Given the description of an element on the screen output the (x, y) to click on. 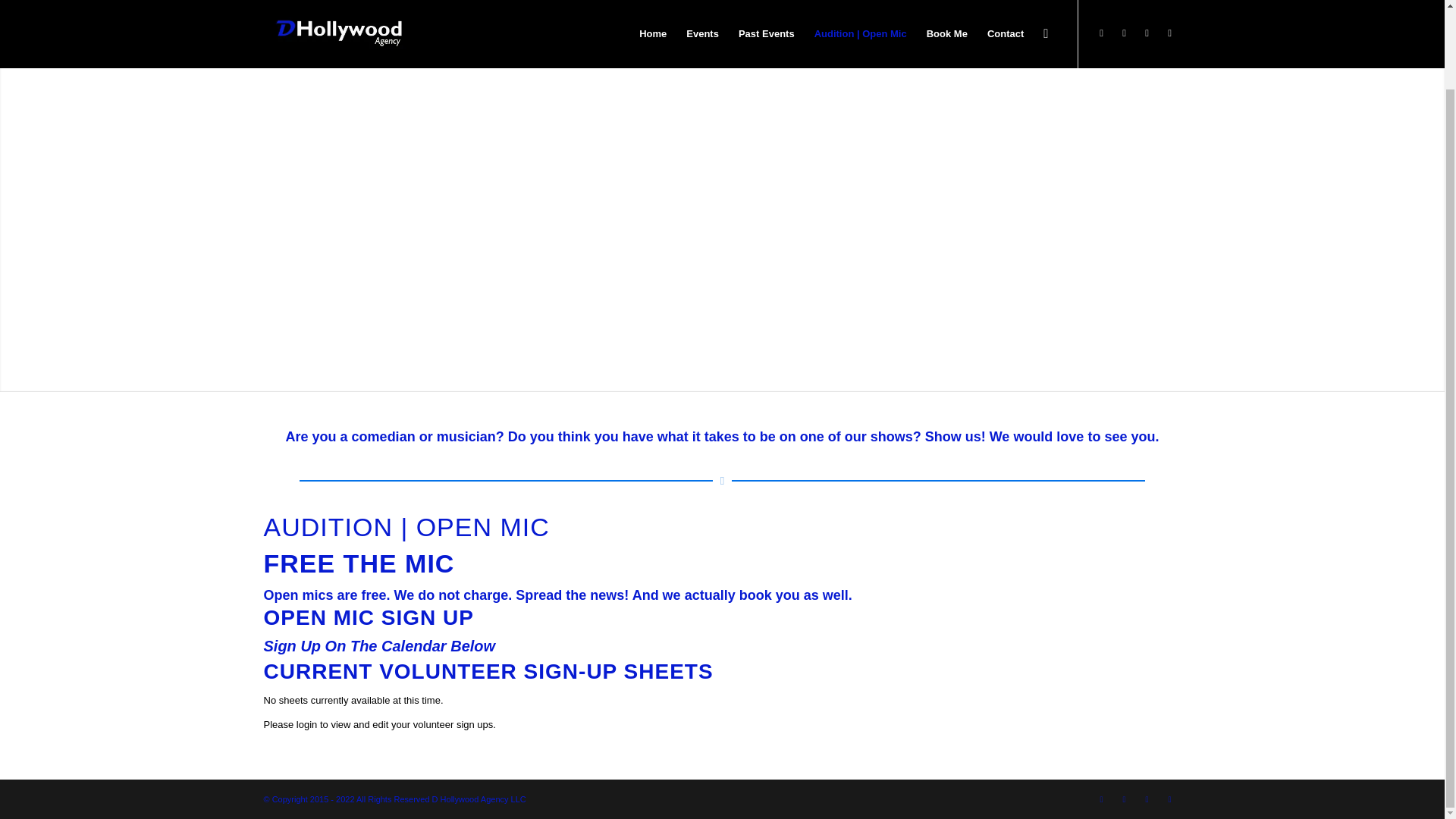
Twitter (1101, 798)
Facebook (1124, 798)
Youtube (1169, 798)
Instagram (1146, 798)
